Given the description of an element on the screen output the (x, y) to click on. 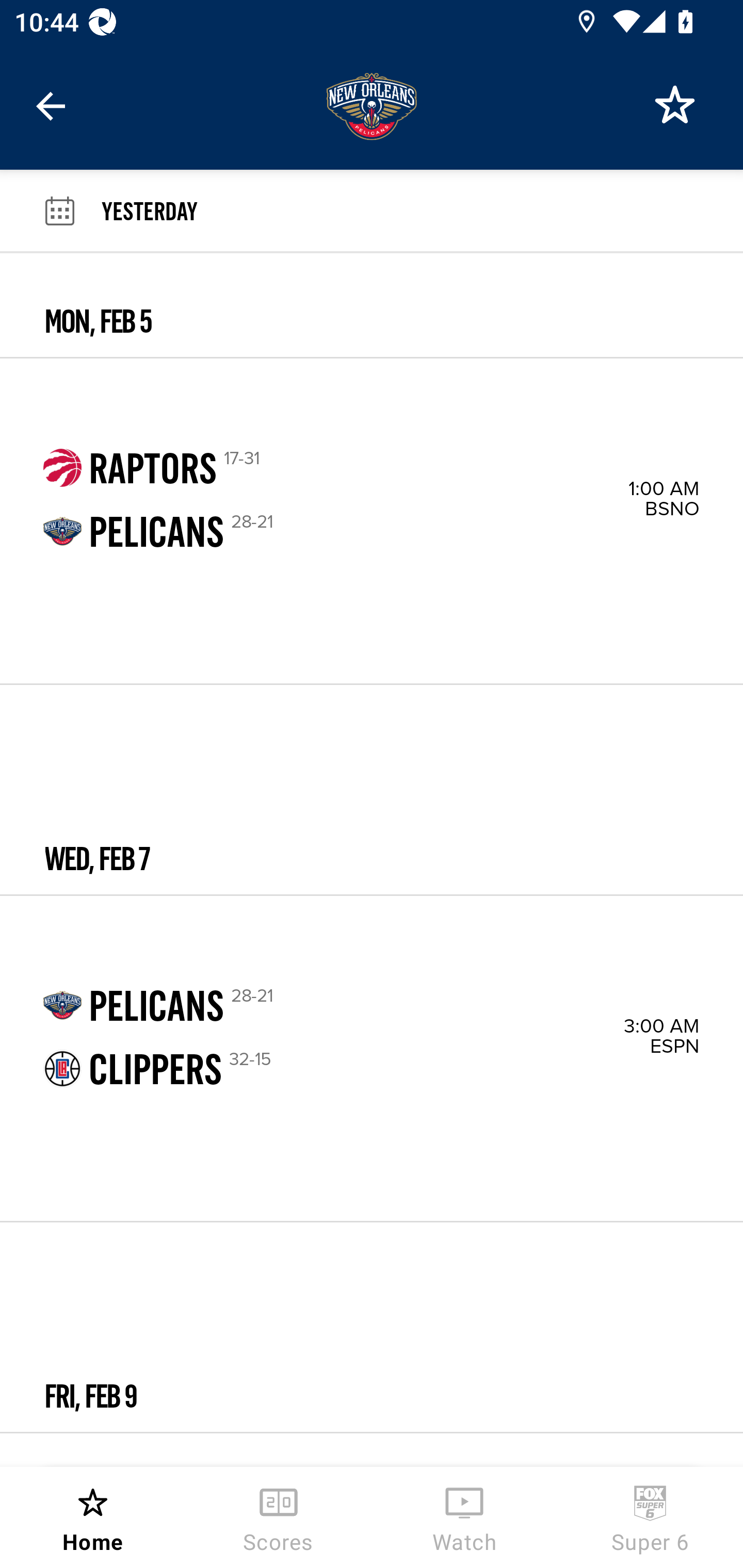
Navigate up (50, 106)
YESTERDAY (422, 210)
MON, FEB 5 (371, 305)
RAPTORS 17-31 1:00 AM PELICANS 28-21 BSNO (371, 521)
WED, FEB 7 (371, 789)
PELICANS 28-21 3:00 AM CLIPPERS 32-15 ESPN (371, 1058)
FRI, FEB 9 (371, 1327)
Scores (278, 1517)
Watch (464, 1517)
Super 6 (650, 1517)
